Given the description of an element on the screen output the (x, y) to click on. 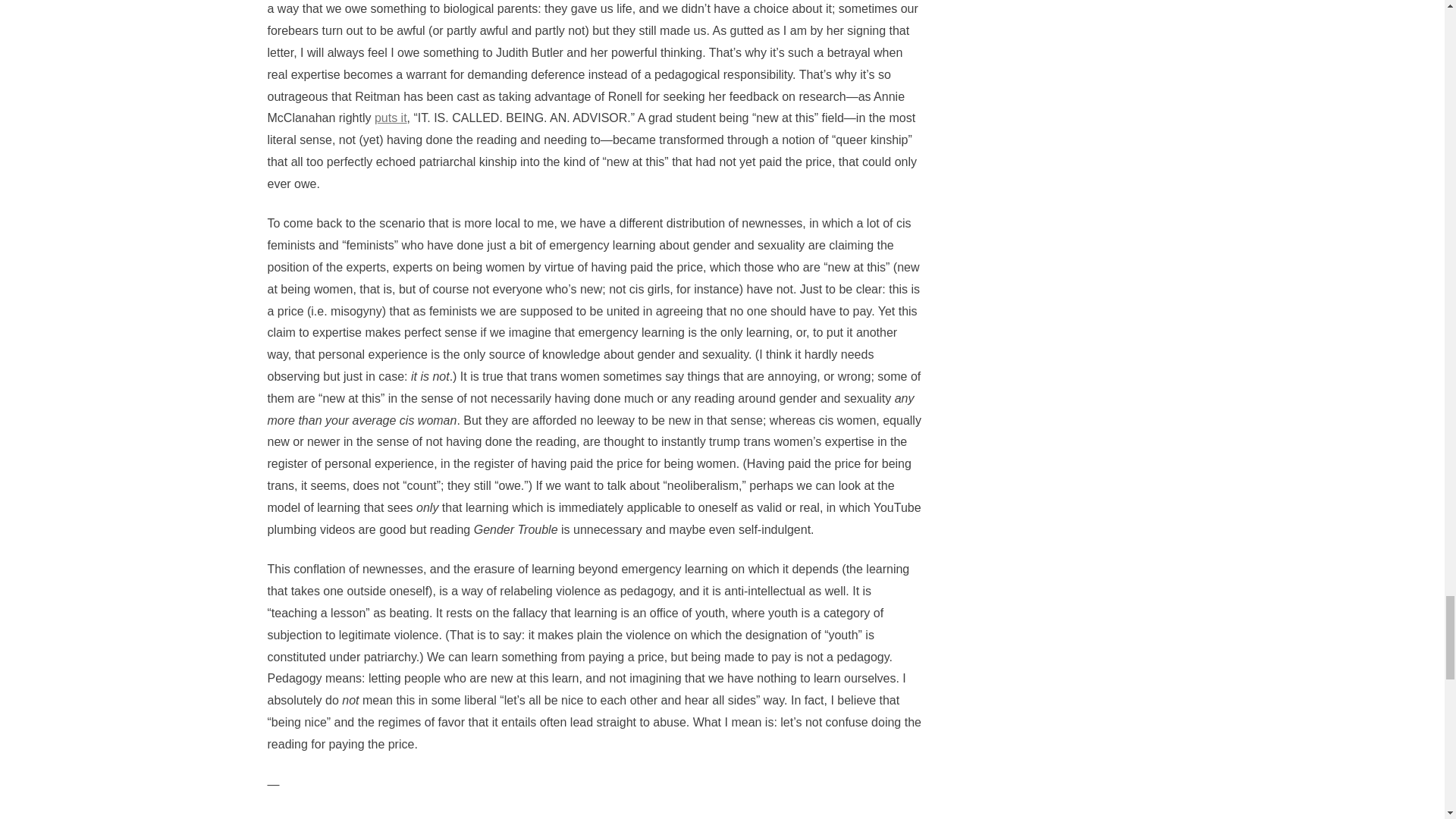
puts it (390, 117)
